Given the description of an element on the screen output the (x, y) to click on. 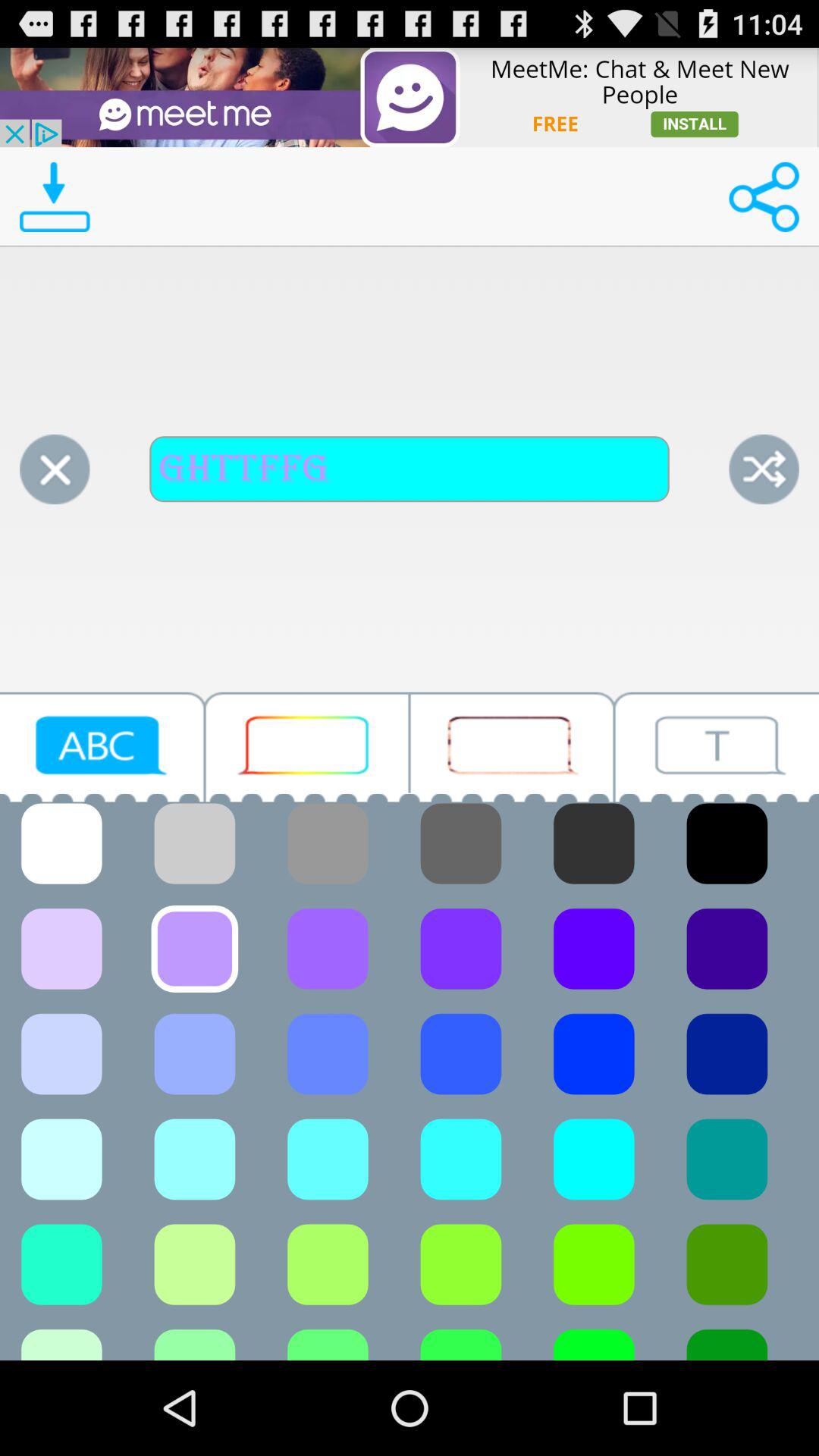
download icon (54, 197)
